Given the description of an element on the screen output the (x, y) to click on. 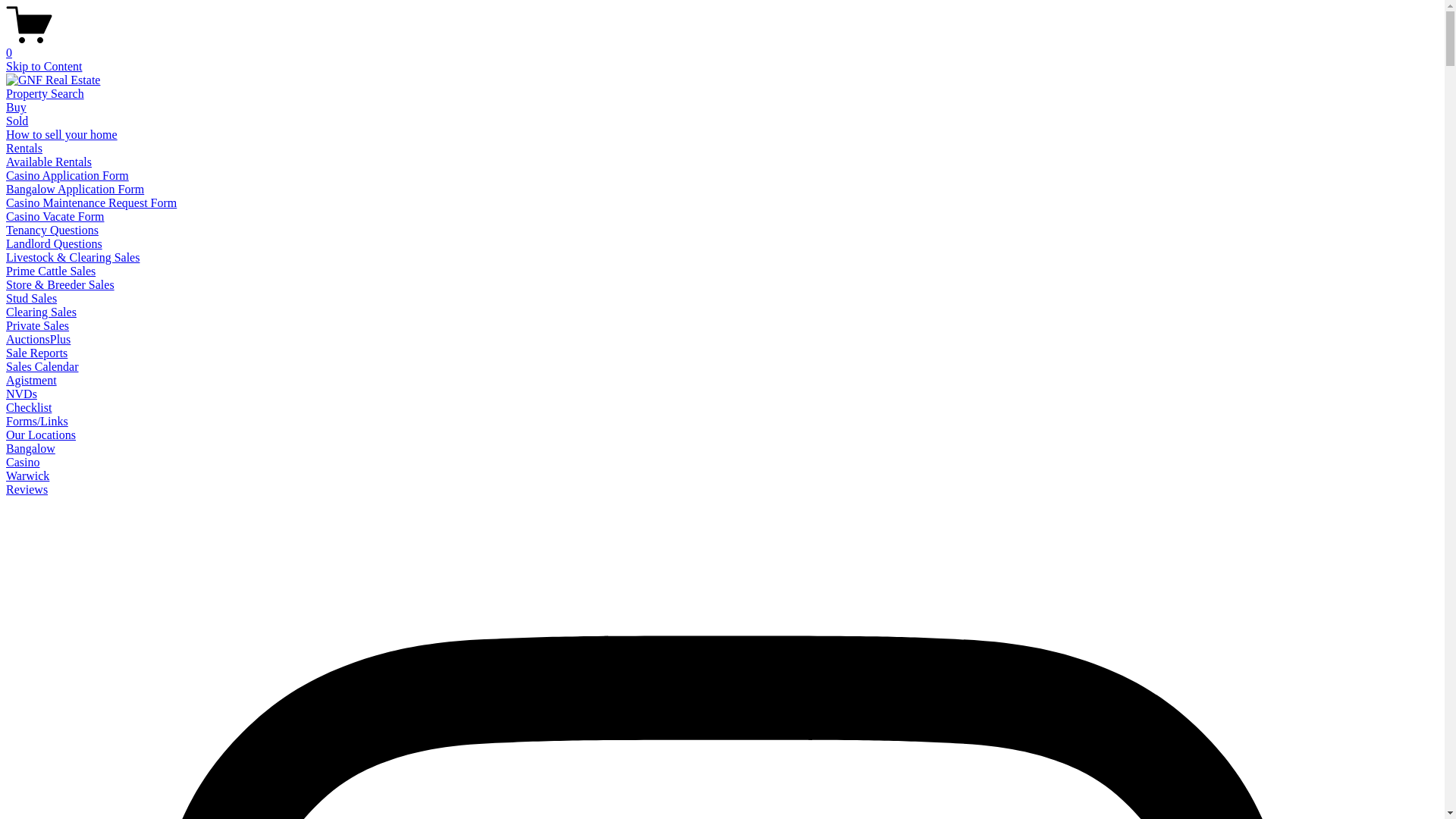
Landlord Questions Element type: text (54, 243)
Stud Sales Element type: text (31, 297)
Agistment Element type: text (31, 379)
Reviews Element type: text (26, 489)
AuctionsPlus Element type: text (38, 338)
Prime Cattle Sales Element type: text (50, 270)
Casino Vacate Form Element type: text (54, 216)
How to sell your home Element type: text (61, 134)
Checklist Element type: text (28, 407)
Casino Element type: text (22, 461)
NVDs Element type: text (21, 393)
Casino Application Form Element type: text (67, 175)
Sales Calendar Element type: text (42, 366)
Casino Maintenance Request Form Element type: text (91, 202)
0 Element type: text (722, 45)
Rentals Element type: text (24, 147)
Clearing Sales Element type: text (41, 311)
Forms/Links Element type: text (37, 420)
Bangalow Application Form Element type: text (75, 188)
Private Sales Element type: text (37, 325)
Bangalow Element type: text (30, 448)
Buy Element type: text (16, 106)
Warwick Element type: text (27, 475)
Our Locations Element type: text (40, 434)
Sale Reports Element type: text (36, 352)
Store & Breeder Sales Element type: text (60, 284)
Property Search Element type: text (45, 93)
Available Rentals Element type: text (48, 161)
Tenancy Questions Element type: text (52, 229)
Livestock & Clearing Sales Element type: text (72, 257)
Skip to Content Element type: text (43, 65)
Sold Element type: text (17, 120)
